Given the description of an element on the screen output the (x, y) to click on. 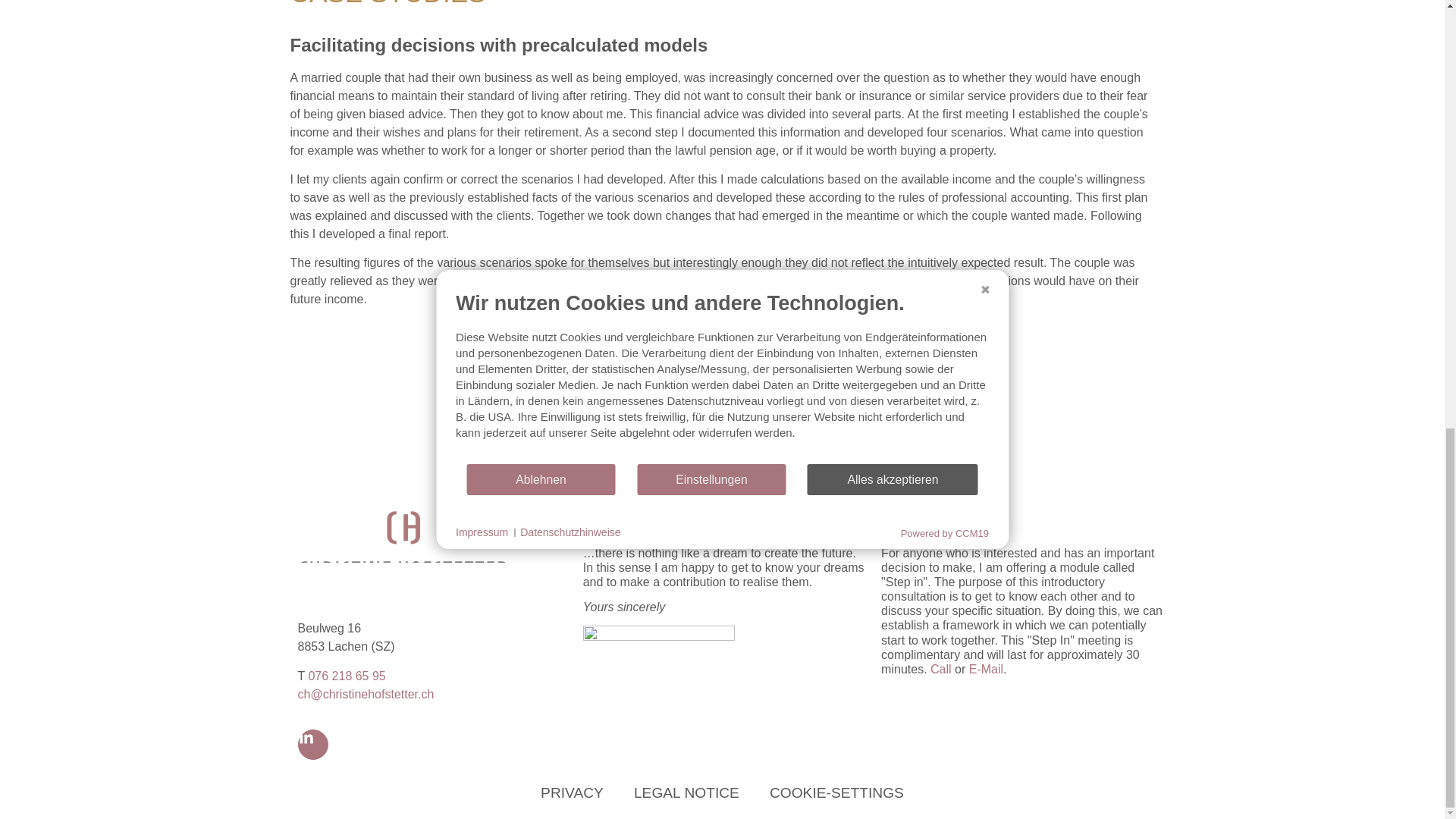
PRIVACY (571, 792)
Call (941, 668)
076 218 65 95 (346, 675)
E-Mail (986, 668)
